Given the description of an element on the screen output the (x, y) to click on. 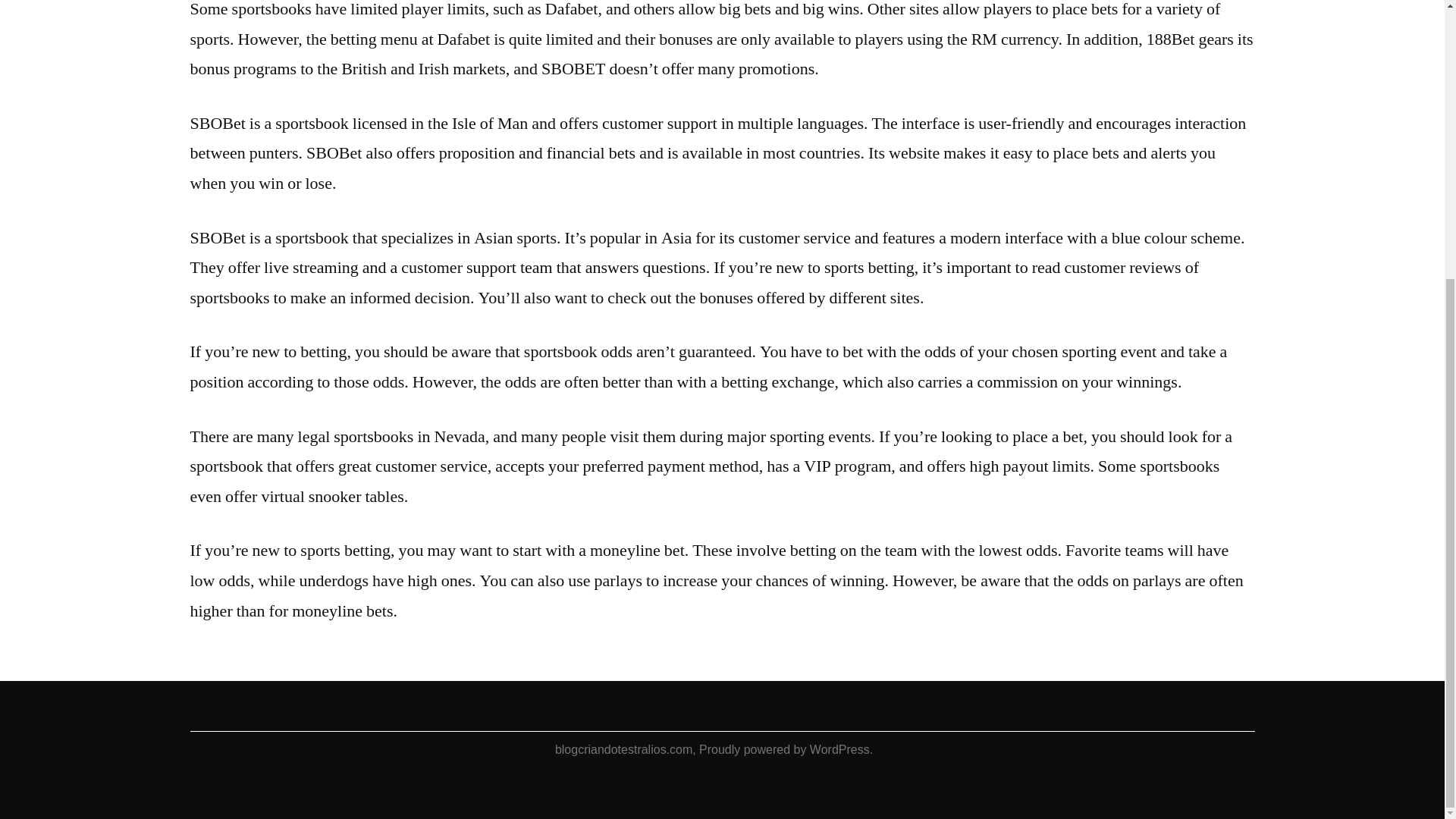
Proudly powered by WordPress. (785, 748)
blogcriandotestralios.com (623, 748)
